Given the description of an element on the screen output the (x, y) to click on. 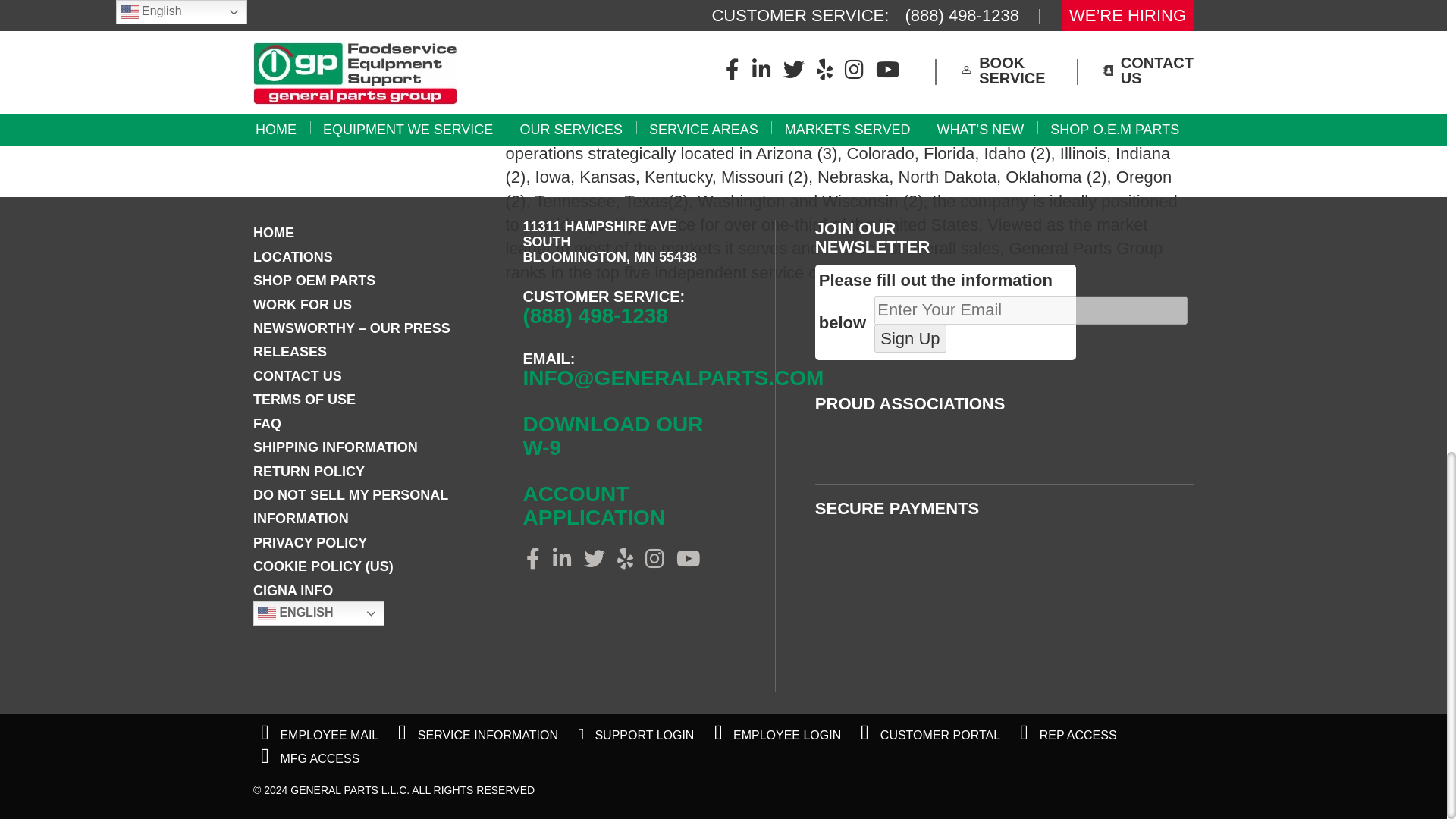
Sign Up (909, 338)
